Given the description of an element on the screen output the (x, y) to click on. 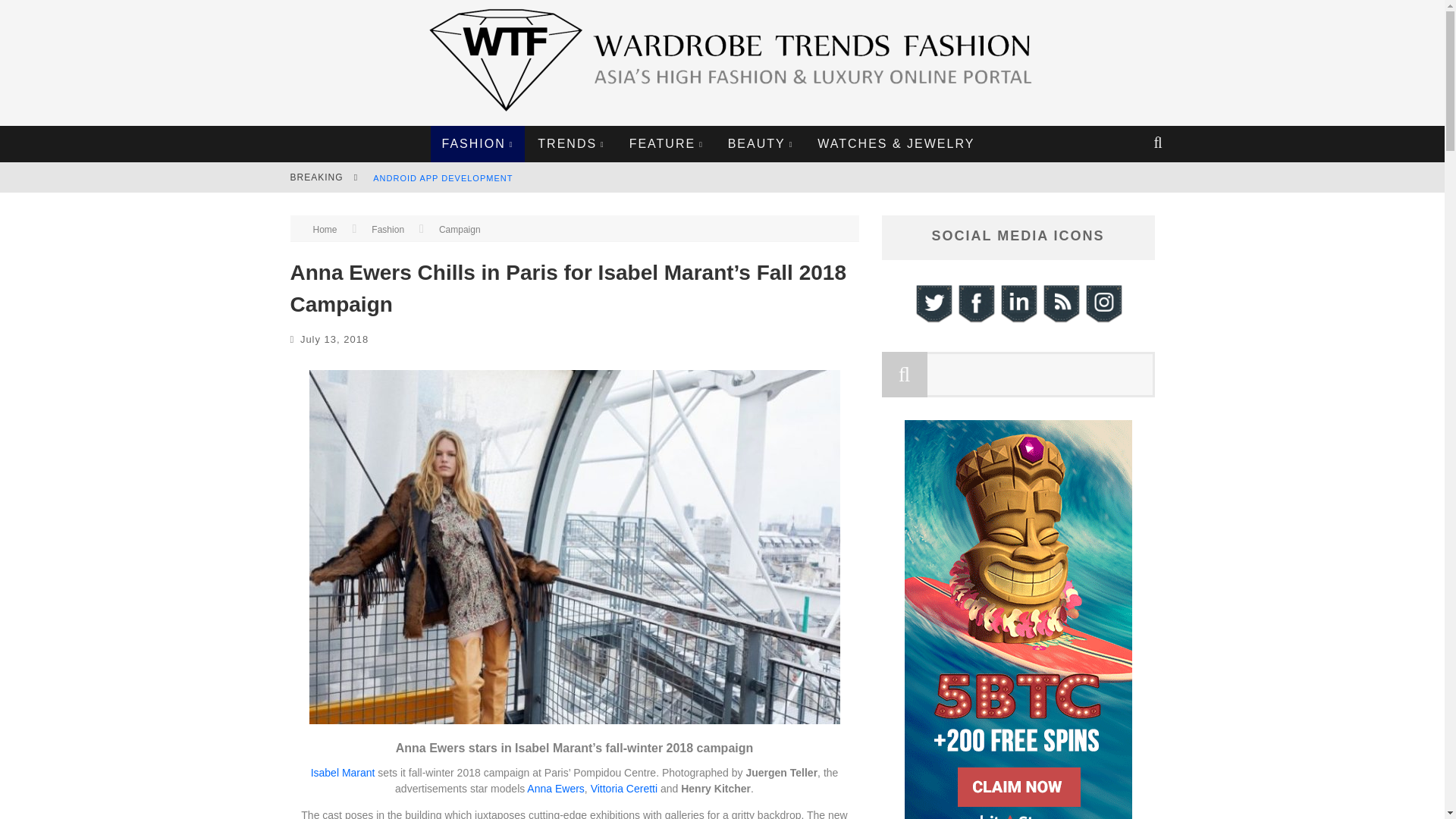
Android App Development (442, 177)
FASHION (477, 144)
View all posts in Fashion (387, 229)
Visit Us On Twitter (932, 320)
Check Our Feed (1060, 320)
View all posts in Campaign (459, 229)
Visit Us On Linkedin (1017, 320)
Visit Us On Instagram (1102, 320)
Visit Us On Facebook (974, 320)
